Given the description of an element on the screen output the (x, y) to click on. 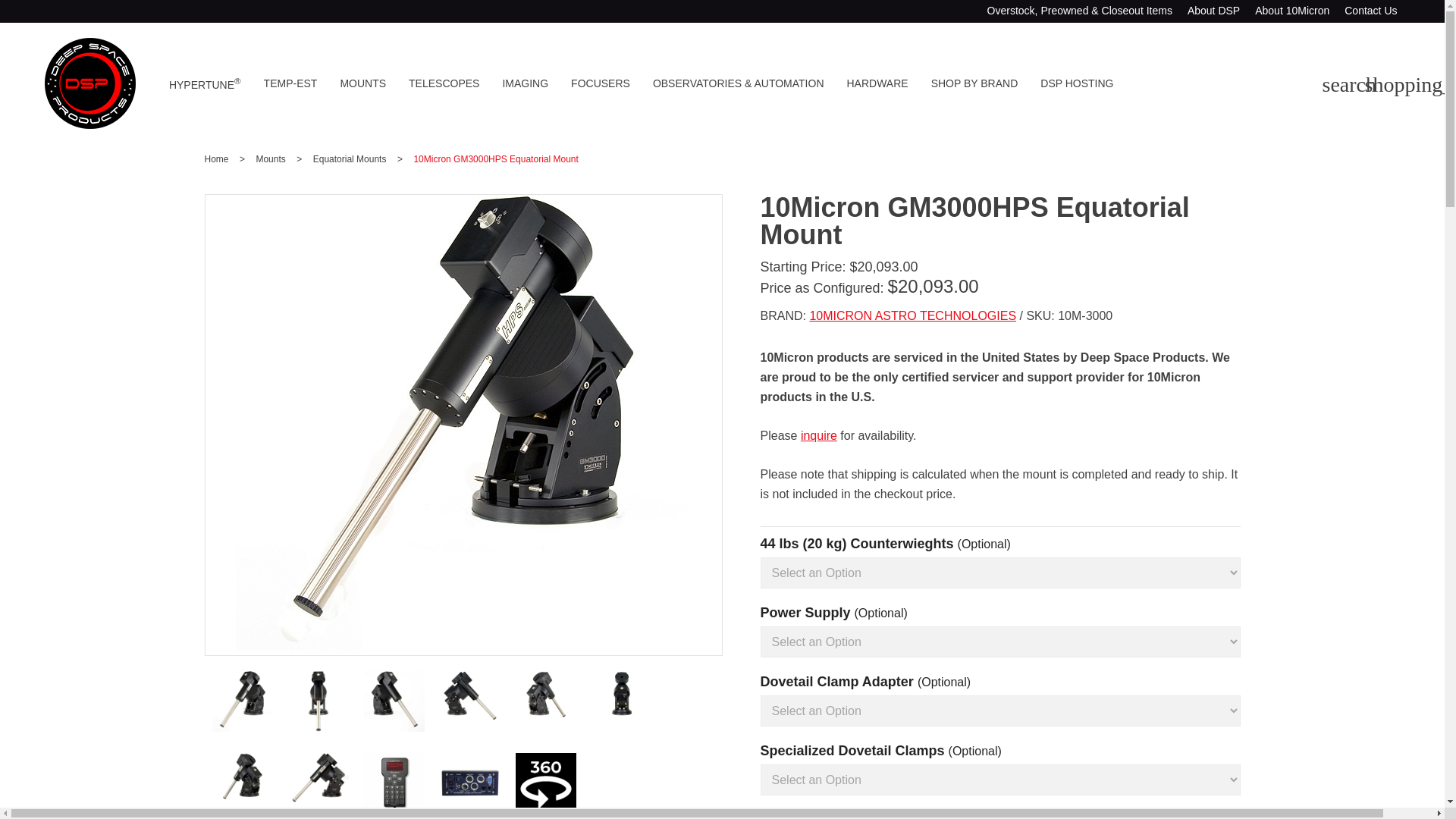
About 10Micron (1292, 10)
TEMP-EST (290, 83)
10Micron GM3000HPS Equatorial Mount (621, 727)
TELESCOPES (444, 83)
10Micron GM3000HPS Equatorial Mount (318, 809)
10Micron GM3000HPS Equatorial Mount (469, 701)
10Micron GM3000HPS Equatorial Mount (469, 727)
10Micron GM3000HPS Equatorial Mount (394, 701)
Contact Us (1369, 10)
